Given the description of an element on the screen output the (x, y) to click on. 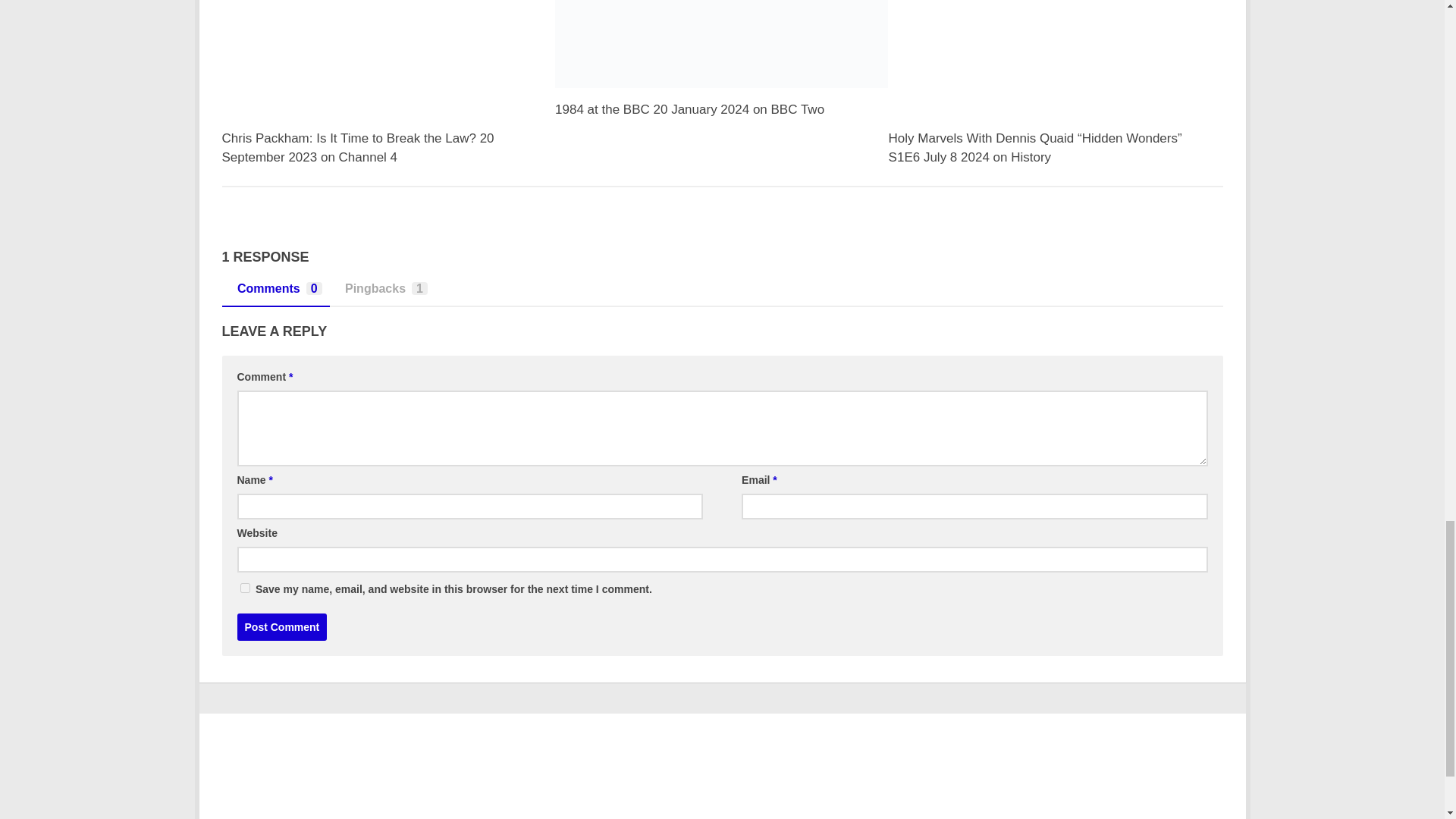
Post Comment (280, 626)
yes (244, 587)
